Given the description of an element on the screen output the (x, y) to click on. 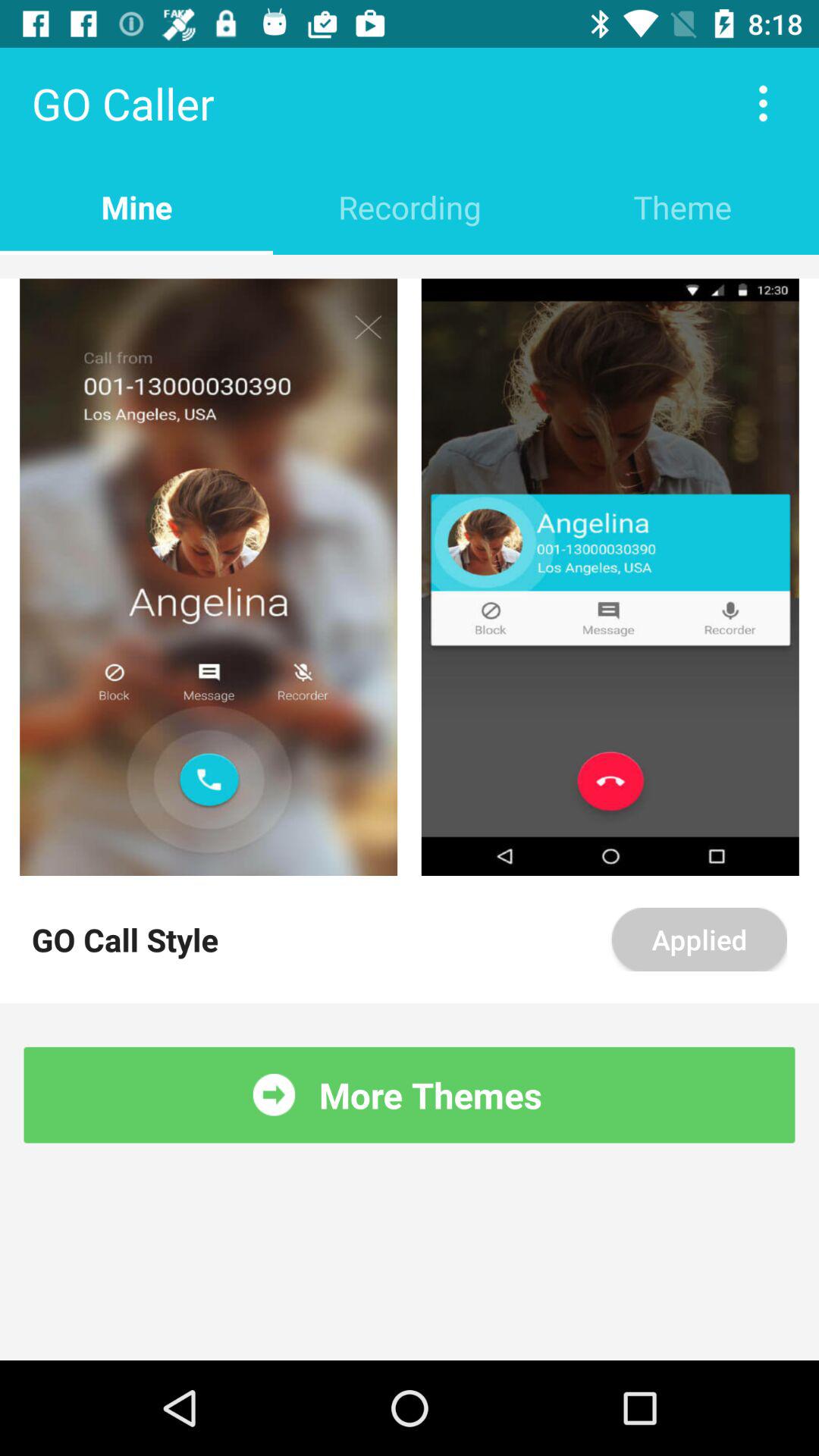
tap the icon next to recording icon (682, 206)
